Given the description of an element on the screen output the (x, y) to click on. 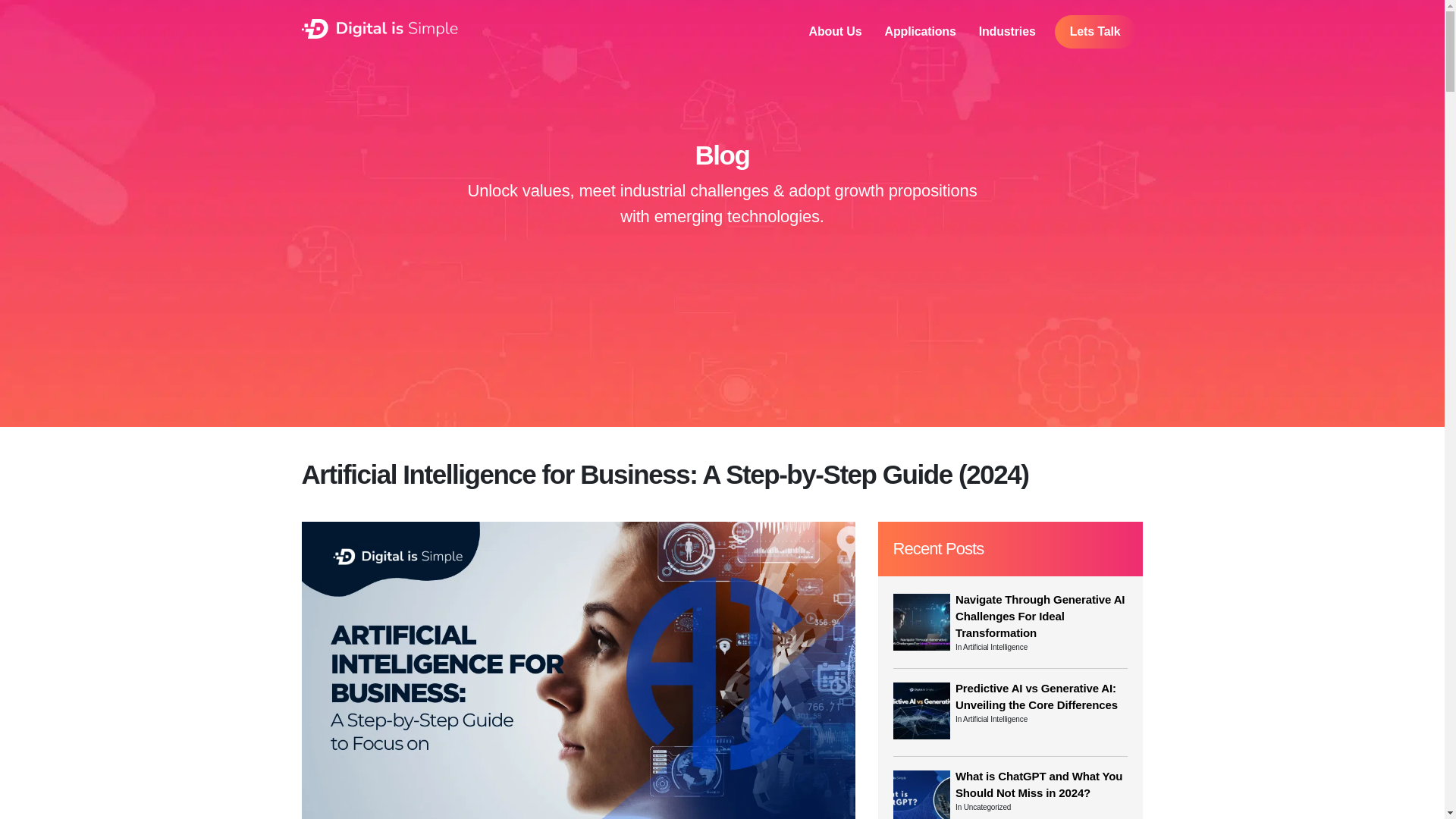
Lets Talk (1094, 31)
About Us (835, 31)
Industries (1007, 31)
Applications (919, 31)
